Given the description of an element on the screen output the (x, y) to click on. 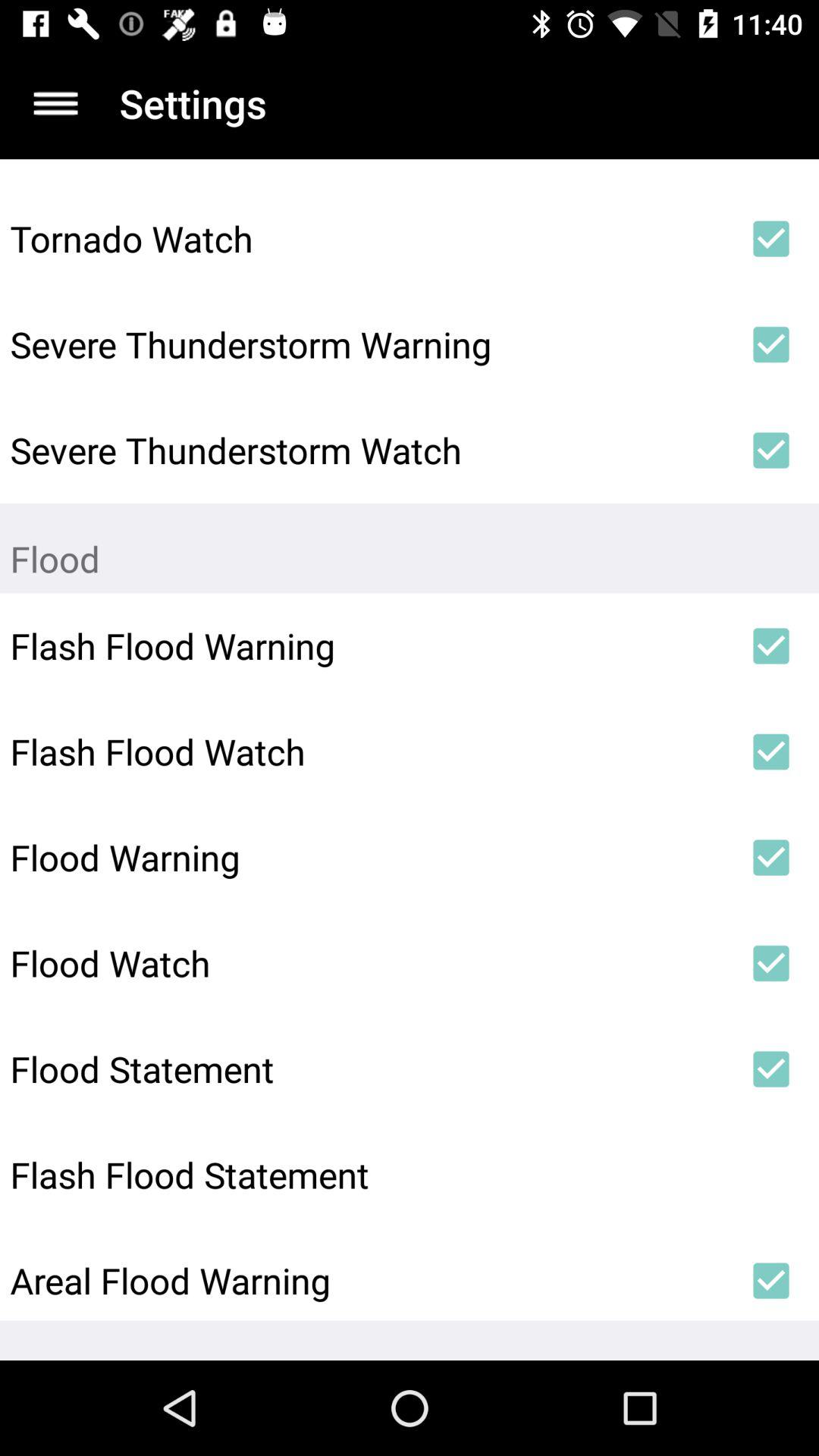
choose item to the right of the flash flood warning item (771, 645)
